Given the description of an element on the screen output the (x, y) to click on. 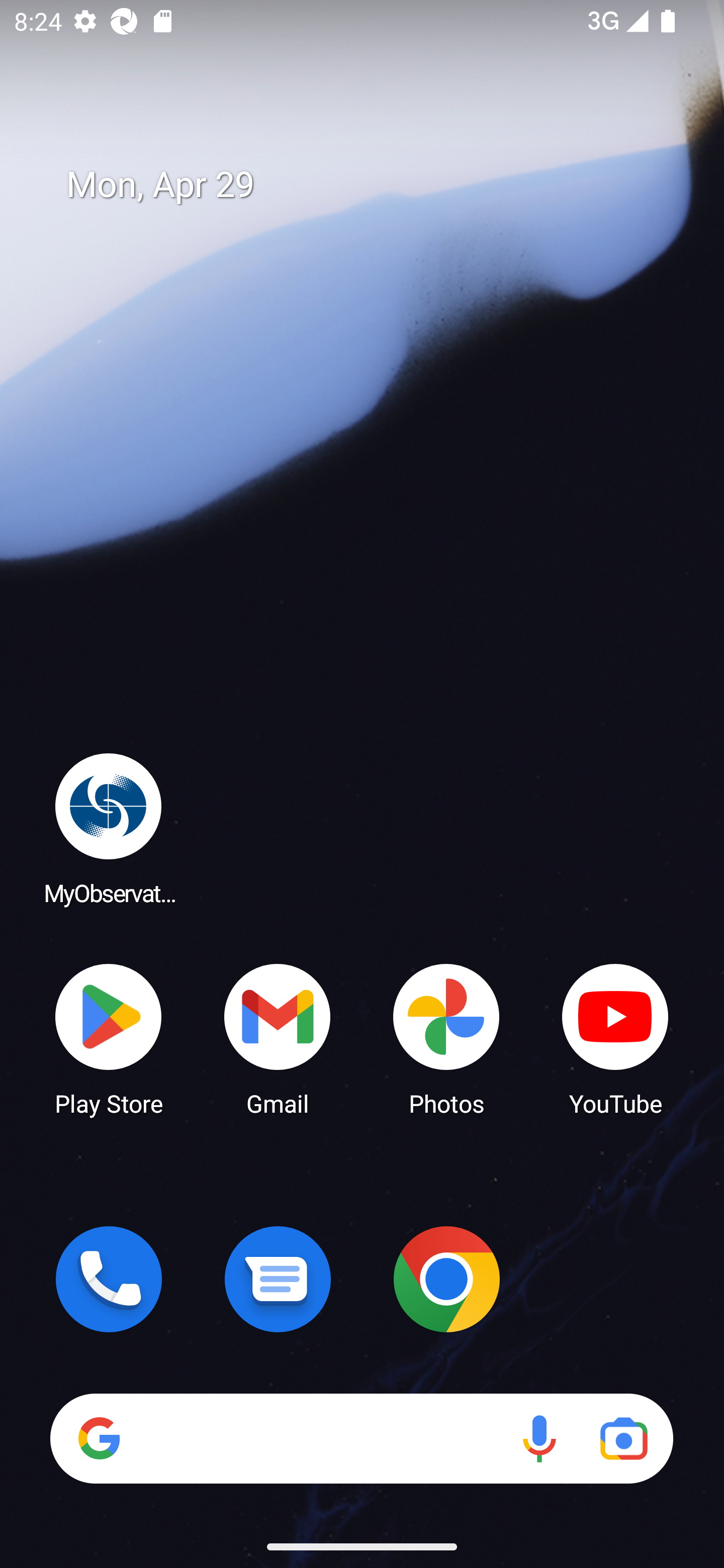
Mon, Apr 29 (375, 184)
MyObservatory (108, 828)
Play Store (108, 1038)
Gmail (277, 1038)
Photos (445, 1038)
YouTube (615, 1038)
Phone (108, 1279)
Messages (277, 1279)
Chrome (446, 1279)
Voice search (539, 1438)
Google Lens (623, 1438)
